Given the description of an element on the screen output the (x, y) to click on. 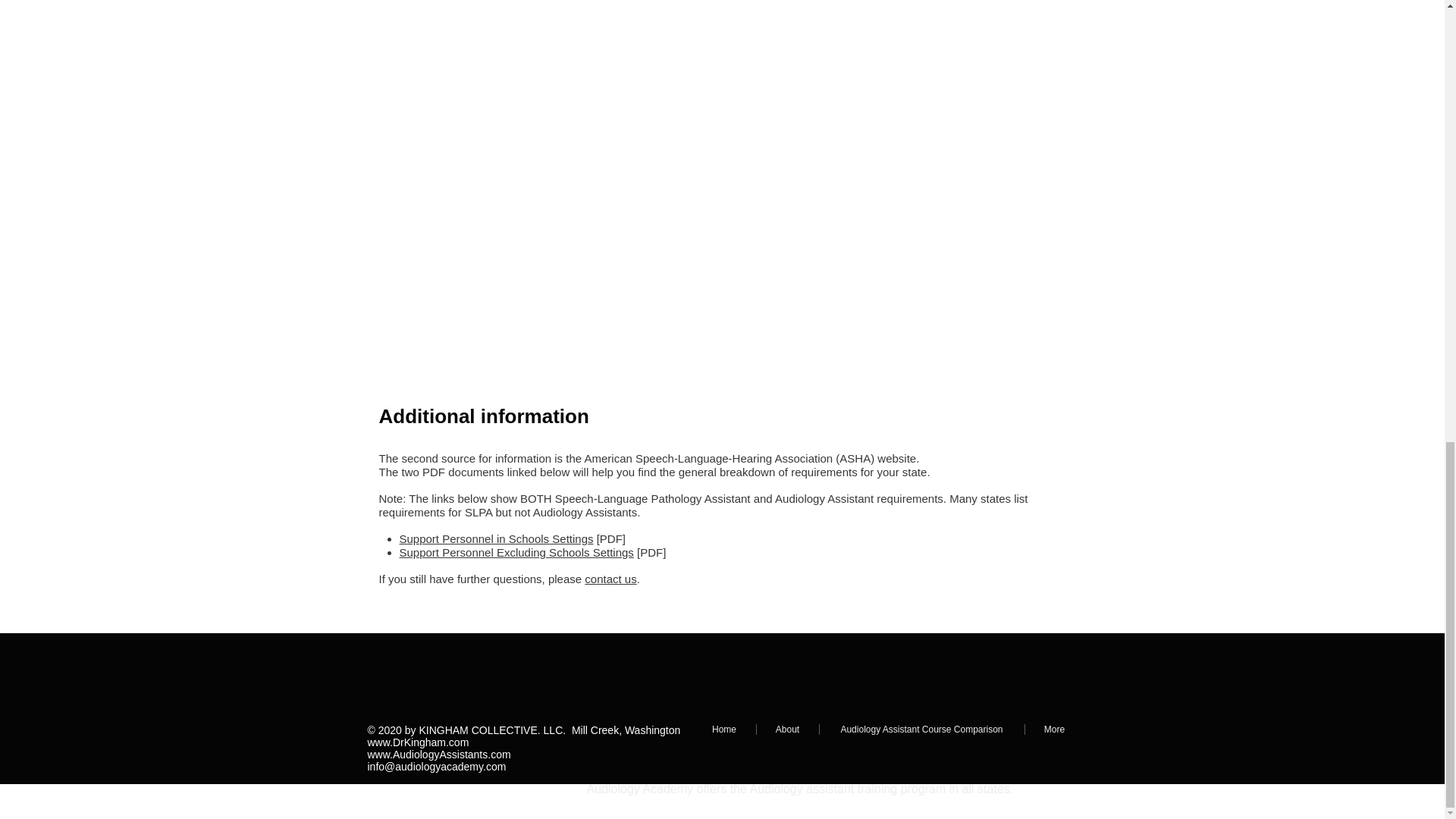
Audiology Assistant Course Comparison (920, 728)
Home (724, 728)
www.DrKingham.com (417, 742)
Support Personnel in Schools Settings (495, 538)
Support Personnel Excluding Schools Settings (515, 552)
About (787, 728)
contact us (610, 578)
